Given the description of an element on the screen output the (x, y) to click on. 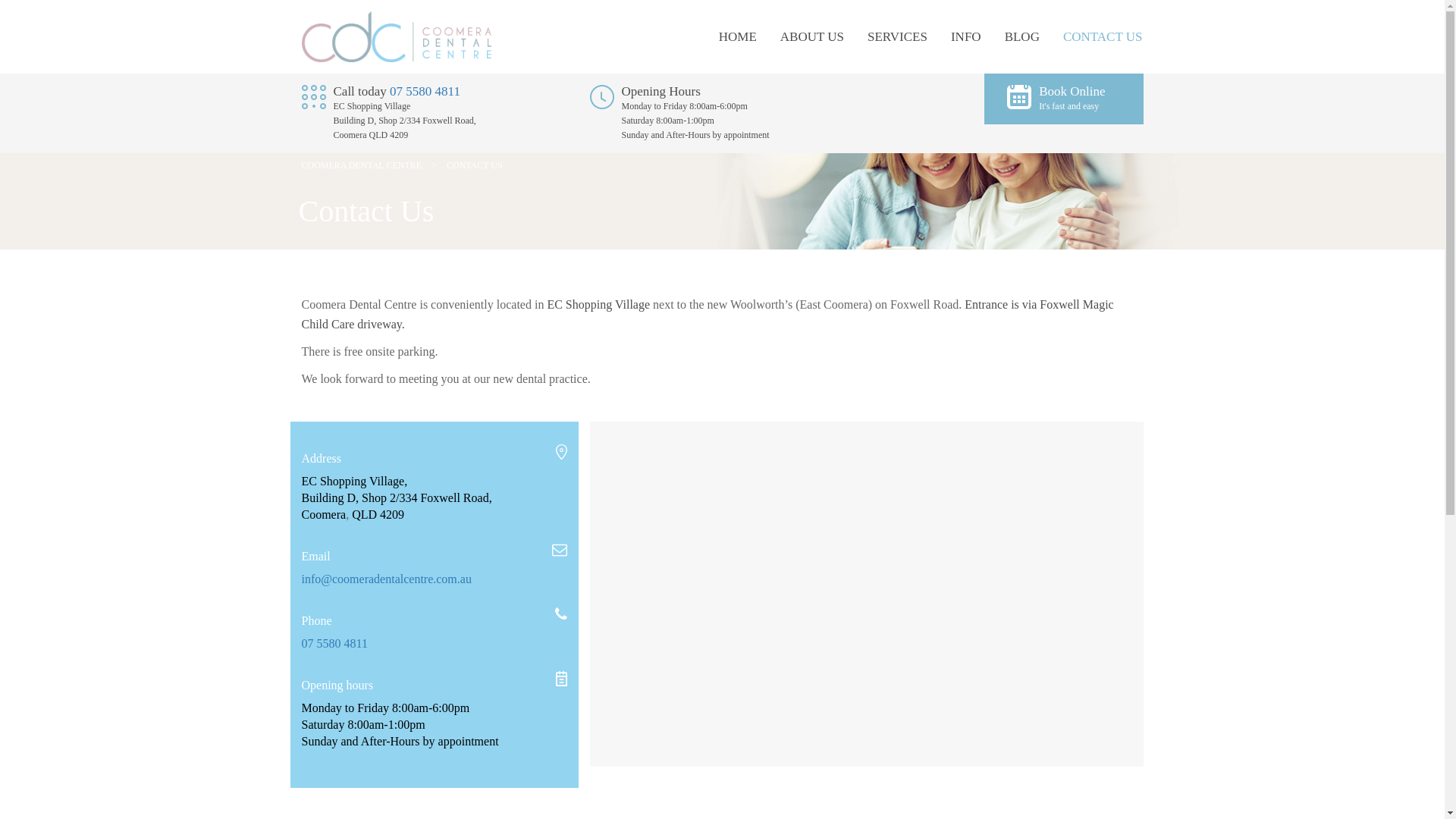
COOMERA DENTAL CENTRE Element type: text (361, 165)
CONTACT US Element type: text (1102, 36)
info@coomeradentalcentre.com.au Element type: text (386, 578)
INFO Element type: text (965, 36)
SERVICES Element type: text (897, 36)
HOME Element type: text (737, 36)
ABOUT US Element type: text (812, 36)
BLOG Element type: text (1021, 36)
07 5580 4811 Element type: text (334, 643)
07 5580 4811 Element type: text (424, 91)
